Given the description of an element on the screen output the (x, y) to click on. 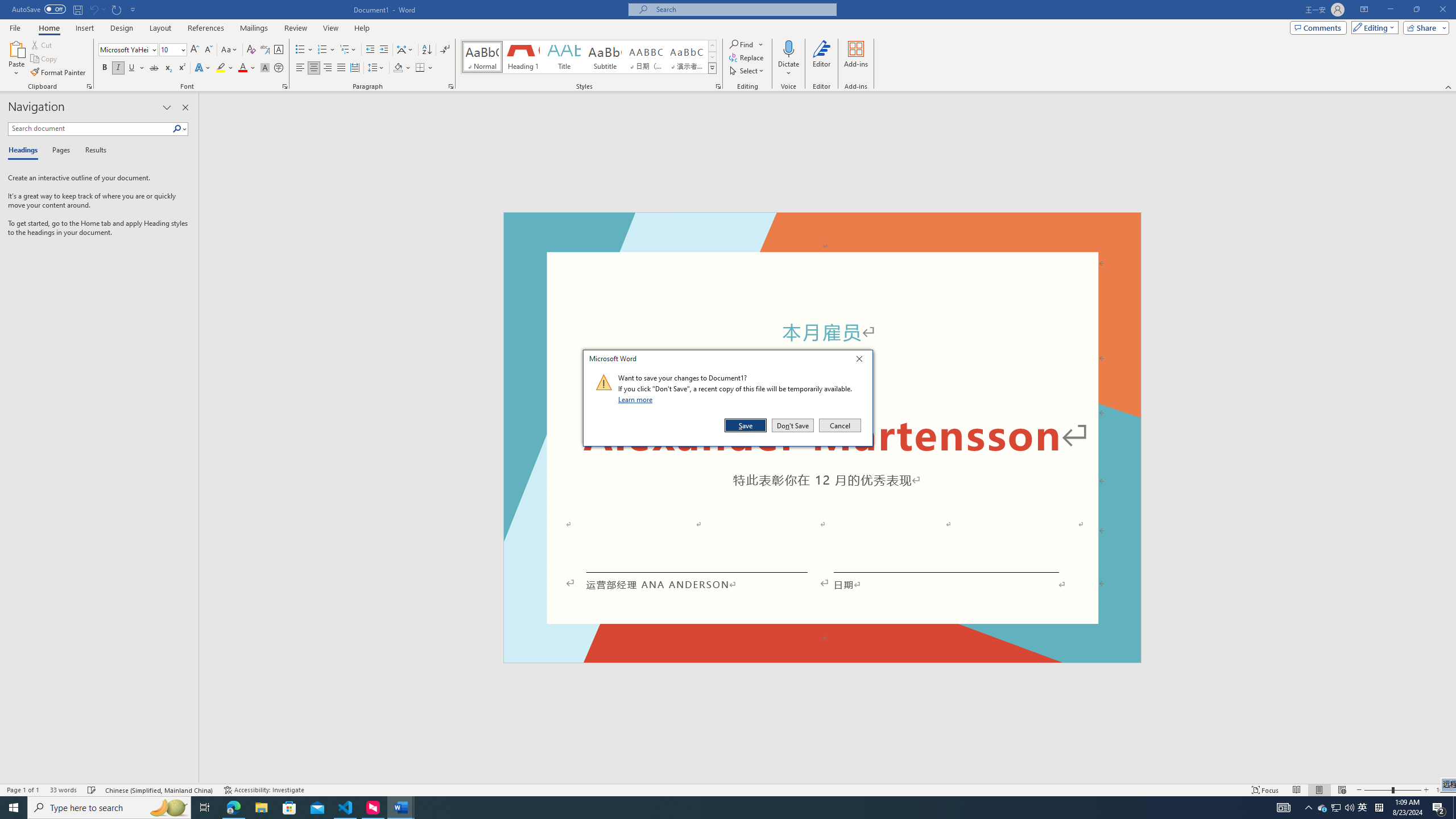
Decrease Indent (370, 49)
Text Highlight Color Yellow (220, 67)
Save (1322, 807)
AutoSave (746, 425)
Text Highlight Color (1362, 807)
Dictate (38, 9)
Close (224, 67)
Zoom (788, 48)
Visual Studio Code - 1 running window (862, 360)
Styles (1392, 790)
Strikethrough (345, 807)
Cancel (711, 67)
Styles... (154, 67)
